Given the description of an element on the screen output the (x, y) to click on. 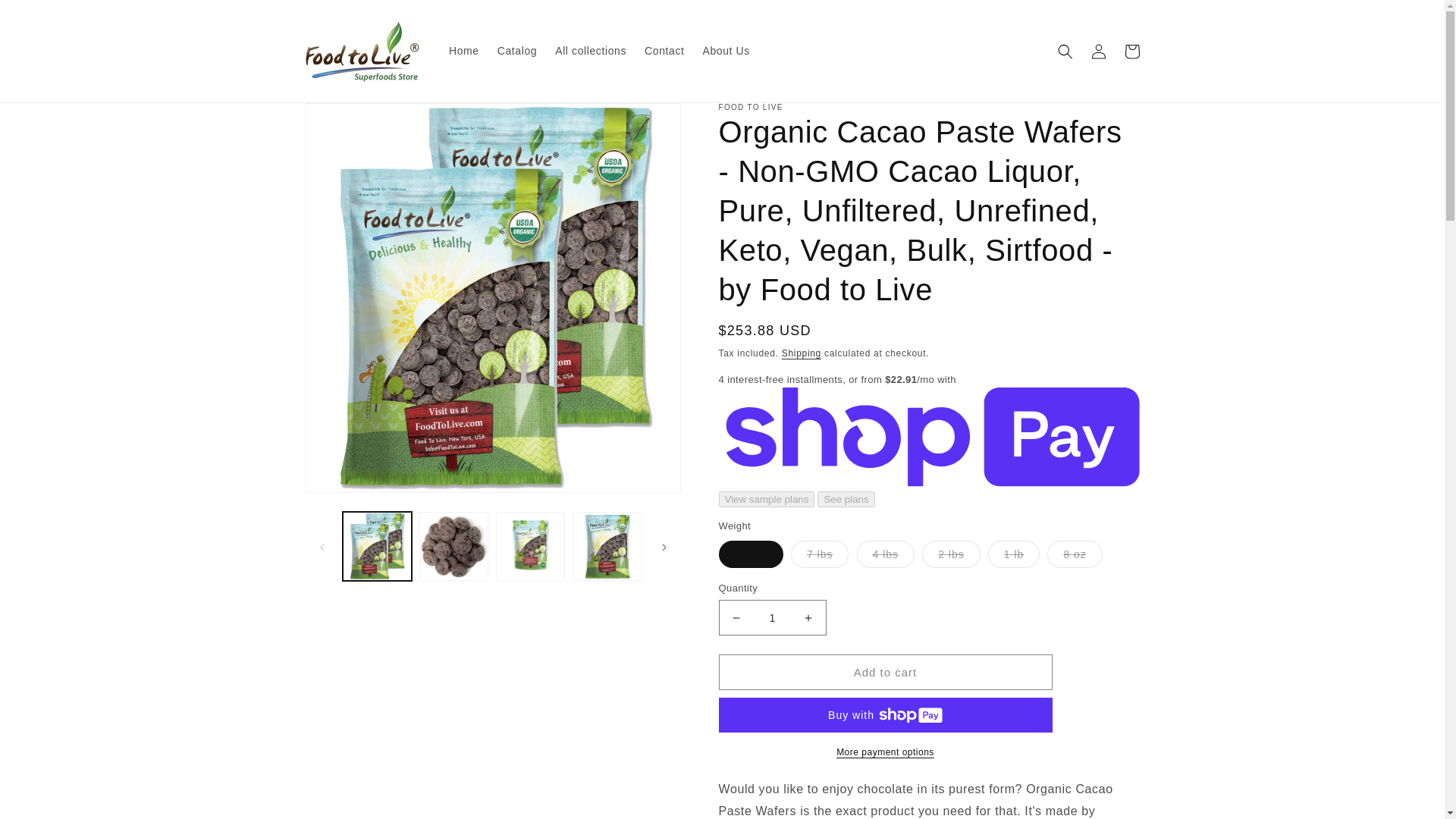
About Us (725, 50)
Skip to product information (350, 120)
Catalog (516, 50)
Cart (1131, 51)
Skip to content (45, 17)
1 (773, 617)
All collections (590, 50)
Log in (1098, 51)
Home (463, 50)
